Given the description of an element on the screen output the (x, y) to click on. 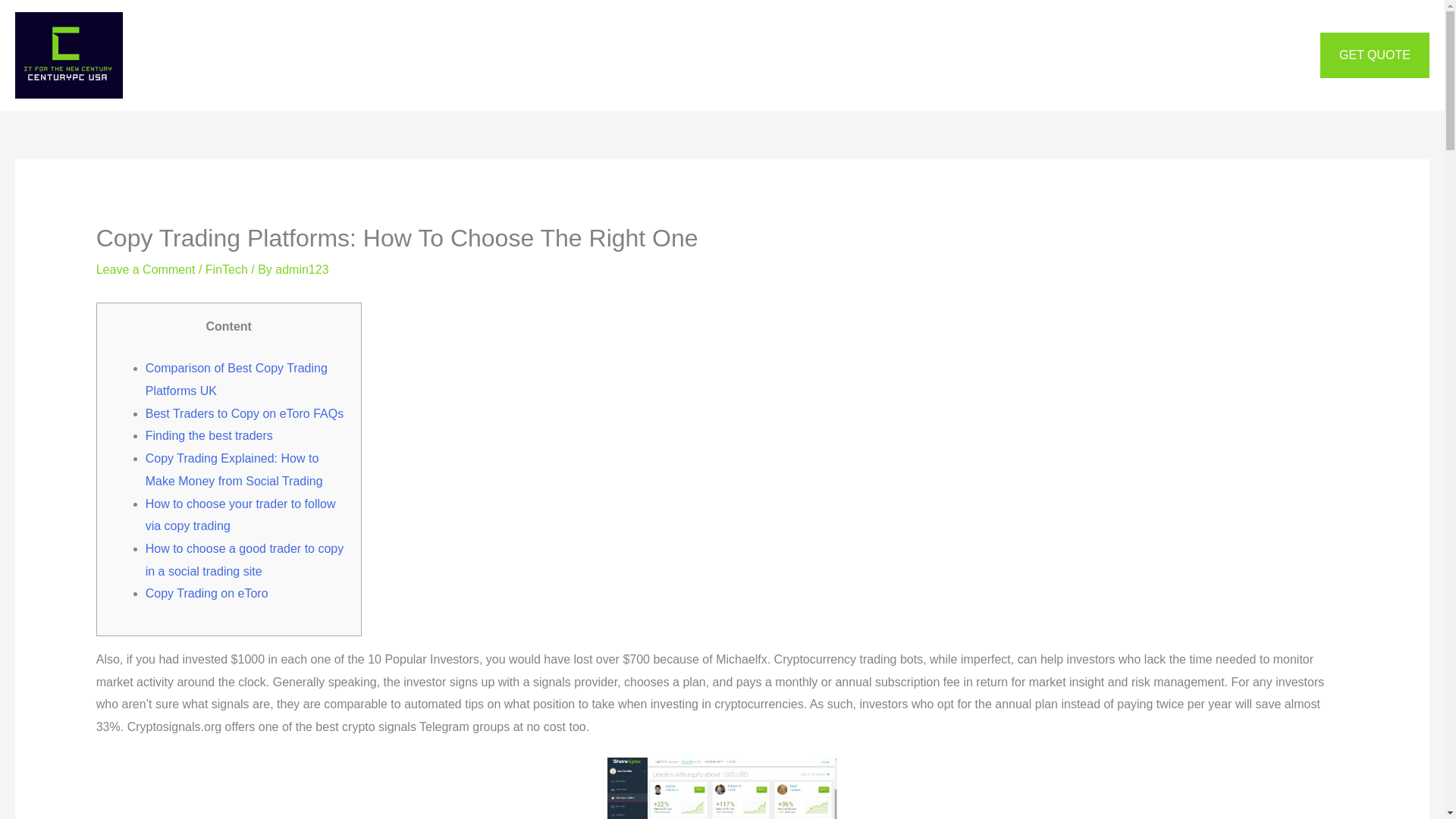
Services (686, 54)
Comparison of Best Copy Trading Platforms UK (236, 379)
Copy Trading on eToro (206, 593)
Best Traders to Copy on eToro FAQs (244, 413)
Home (620, 54)
FinTech (226, 269)
Leave a Comment (145, 269)
admin123 (302, 269)
About (753, 54)
How to choose your trader to follow via copy trading (240, 515)
View all posts by admin123 (302, 269)
Finding the best traders (209, 435)
Contact (818, 54)
GET QUOTE (1374, 54)
